Given the description of an element on the screen output the (x, y) to click on. 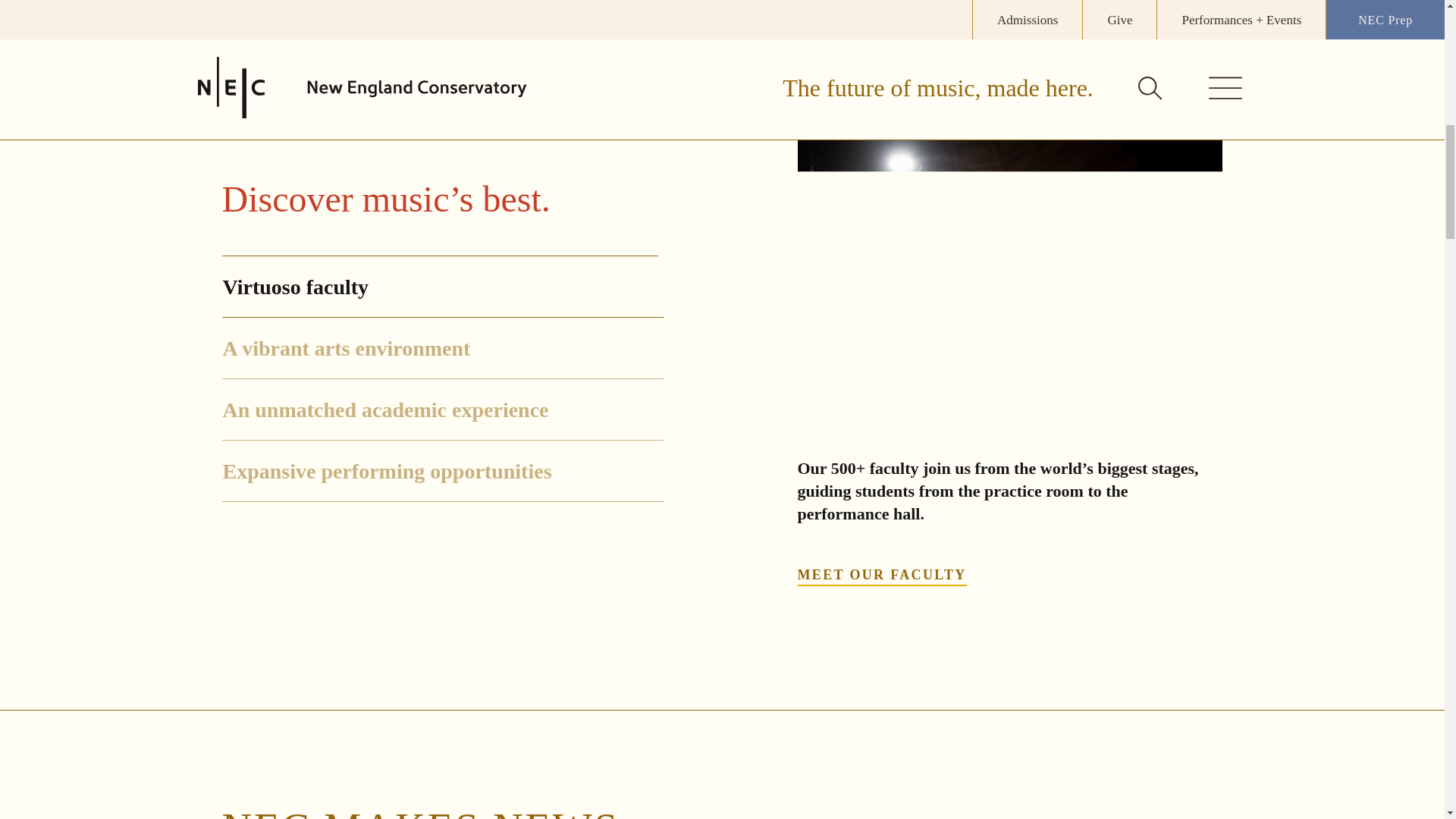
1 - What will you discover (1010, 279)
